Given the description of an element on the screen output the (x, y) to click on. 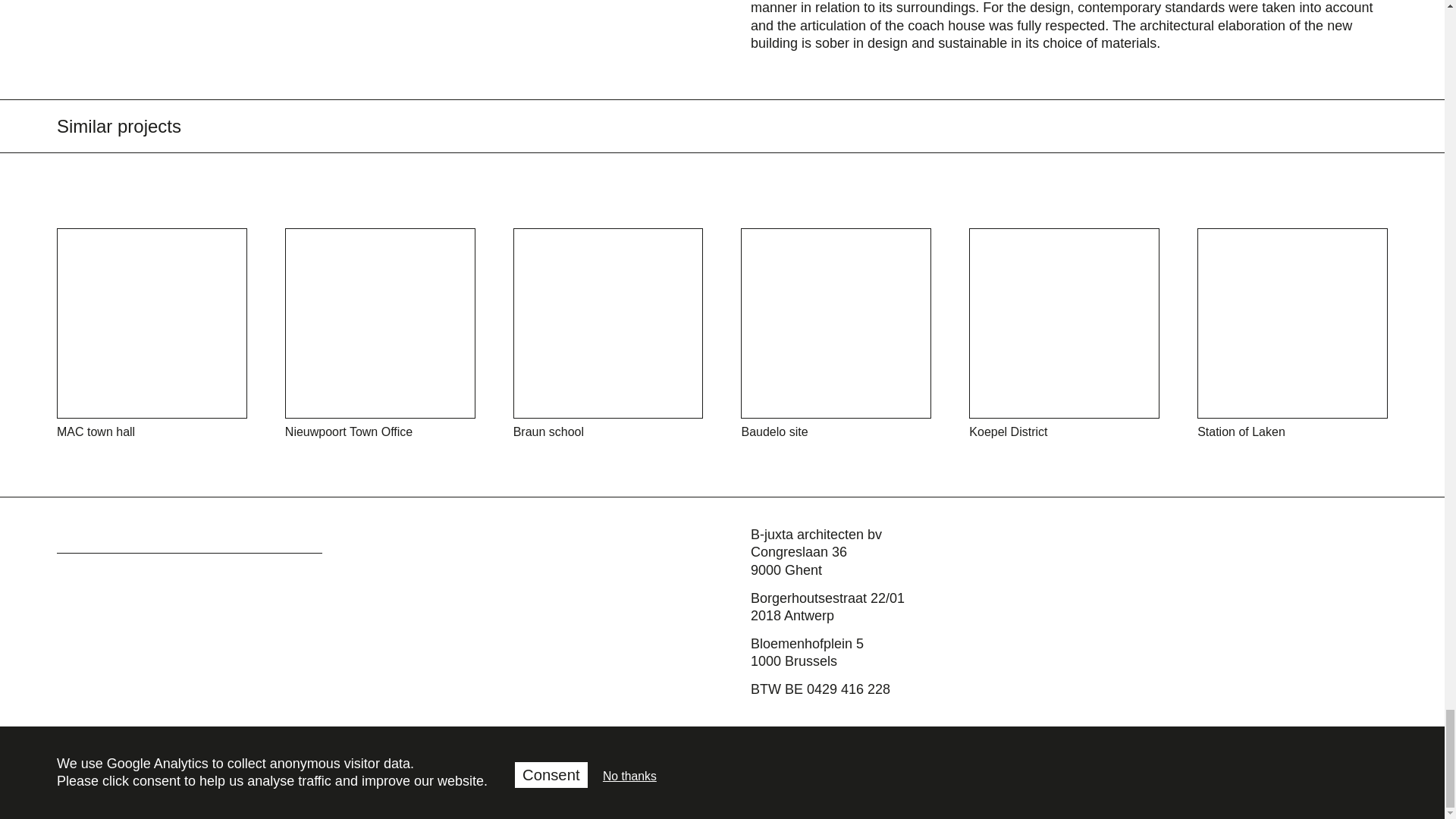
Station of Laken (1291, 334)
Baudelo site (836, 334)
linkedin (146, 735)
Braun school (608, 334)
Koepel District (1063, 334)
Nieuwpoort Town Office (380, 334)
inst (67, 735)
MAC town hall (151, 334)
Gedragscode architecten (826, 780)
